Given the description of an element on the screen output the (x, y) to click on. 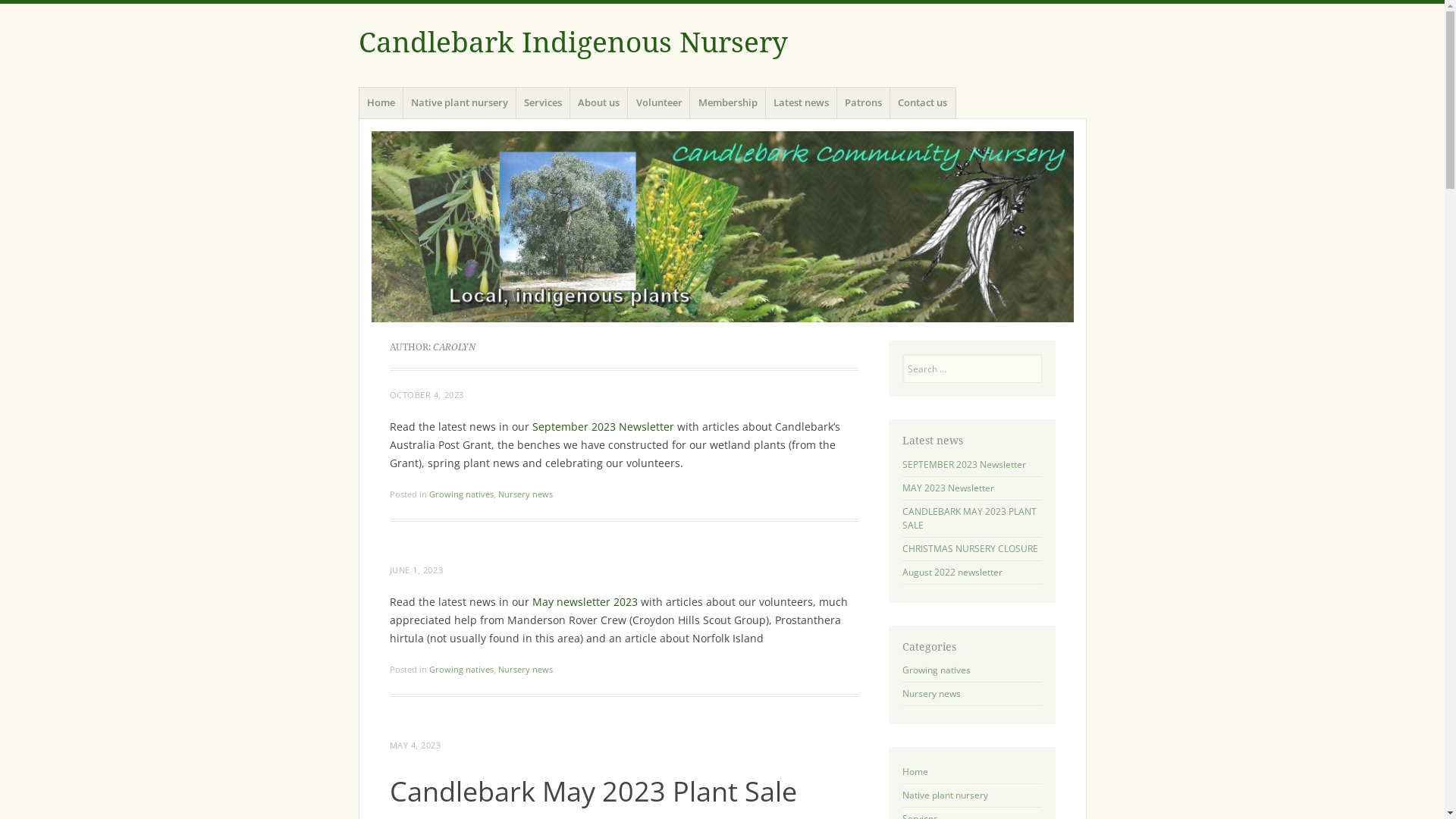
Candlebark Indigenous Nursery Element type: hover (722, 226)
Latest news Element type: text (801, 103)
Nursery news Element type: text (931, 693)
MAY 2023 Newsletter Element type: text (948, 486)
OCTOBER 4, 2023 Element type: text (426, 394)
Patrons Element type: text (863, 103)
Growing natives Element type: text (461, 668)
September 2023 Newsletter Element type: text (603, 426)
Candlebark Indigenous Nursery Element type: text (572, 42)
Nursery news Element type: text (524, 668)
Home Element type: text (380, 103)
Membership Element type: text (727, 103)
Growing natives Element type: text (461, 493)
CHRISTMAS NURSERY CLOSURE Element type: text (970, 547)
Volunteer Element type: text (658, 103)
Skip to content Element type: text (357, 108)
Native plant nursery Element type: text (945, 794)
Services Element type: text (543, 103)
Search Element type: text (18, 8)
CANDLEBARK MAY 2023 PLANT SALE Element type: text (969, 518)
May newsletter 2023 Element type: text (584, 601)
Home Element type: text (915, 771)
Growing natives Element type: text (936, 669)
August 2022 newsletter Element type: text (952, 571)
Nursery news Element type: text (524, 493)
About us Element type: text (598, 103)
MAY 4, 2023 Element type: text (415, 744)
JUNE 1, 2023 Element type: text (416, 569)
Contact us Element type: text (922, 103)
CAROLYN Element type: text (453, 347)
Native plant nursery Element type: text (459, 103)
SEPTEMBER 2023 Newsletter Element type: text (964, 464)
